Given the description of an element on the screen output the (x, y) to click on. 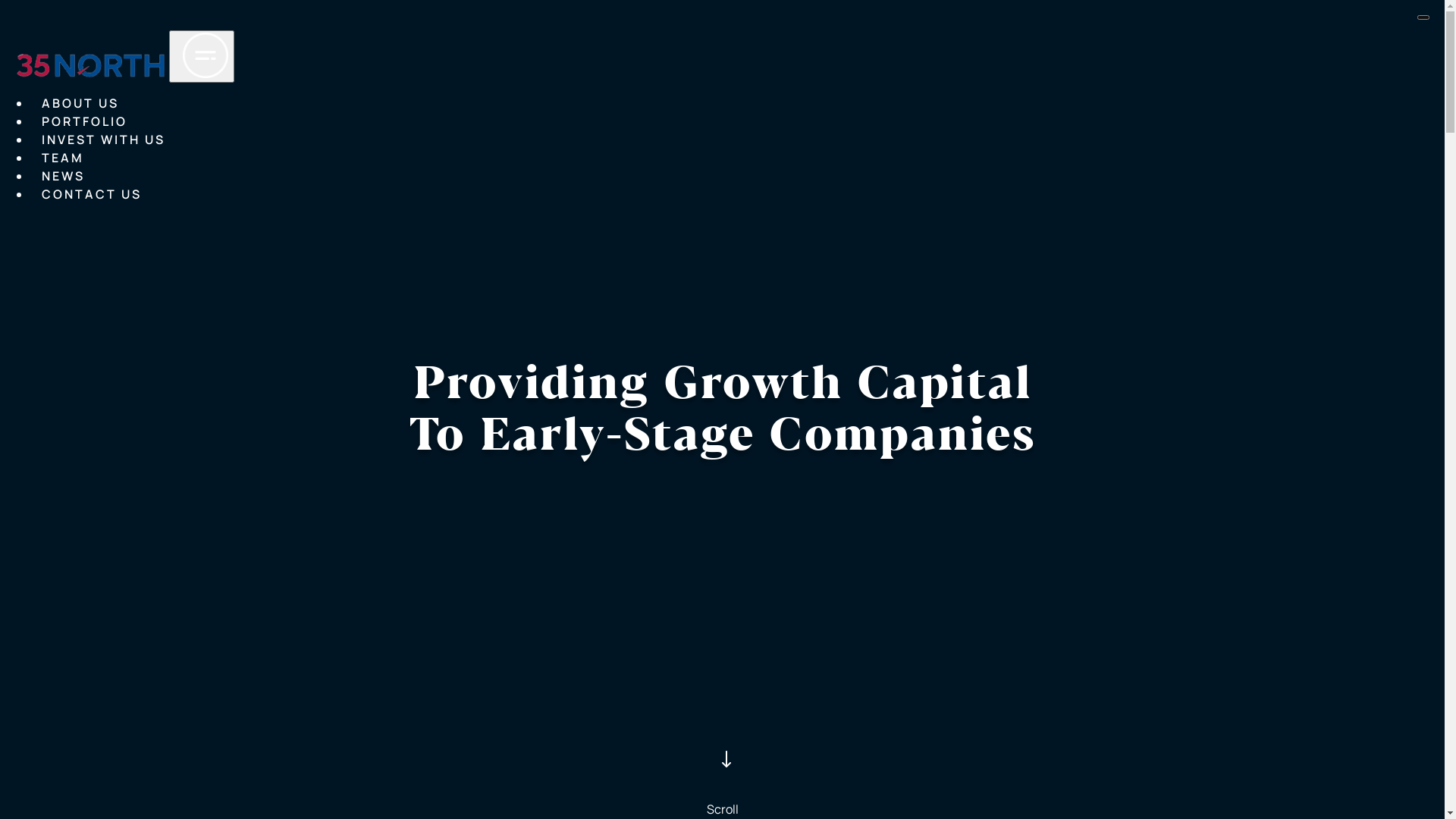
NEWS Element type: text (62, 176)
ABOUT US Element type: text (80, 103)
Scroll Element type: text (721, 767)
CONTACT US Element type: text (91, 194)
PORTFOLIO Element type: text (84, 121)
TEAM Element type: text (62, 158)
INVEST WITH US Element type: text (103, 140)
